Given the description of an element on the screen output the (x, y) to click on. 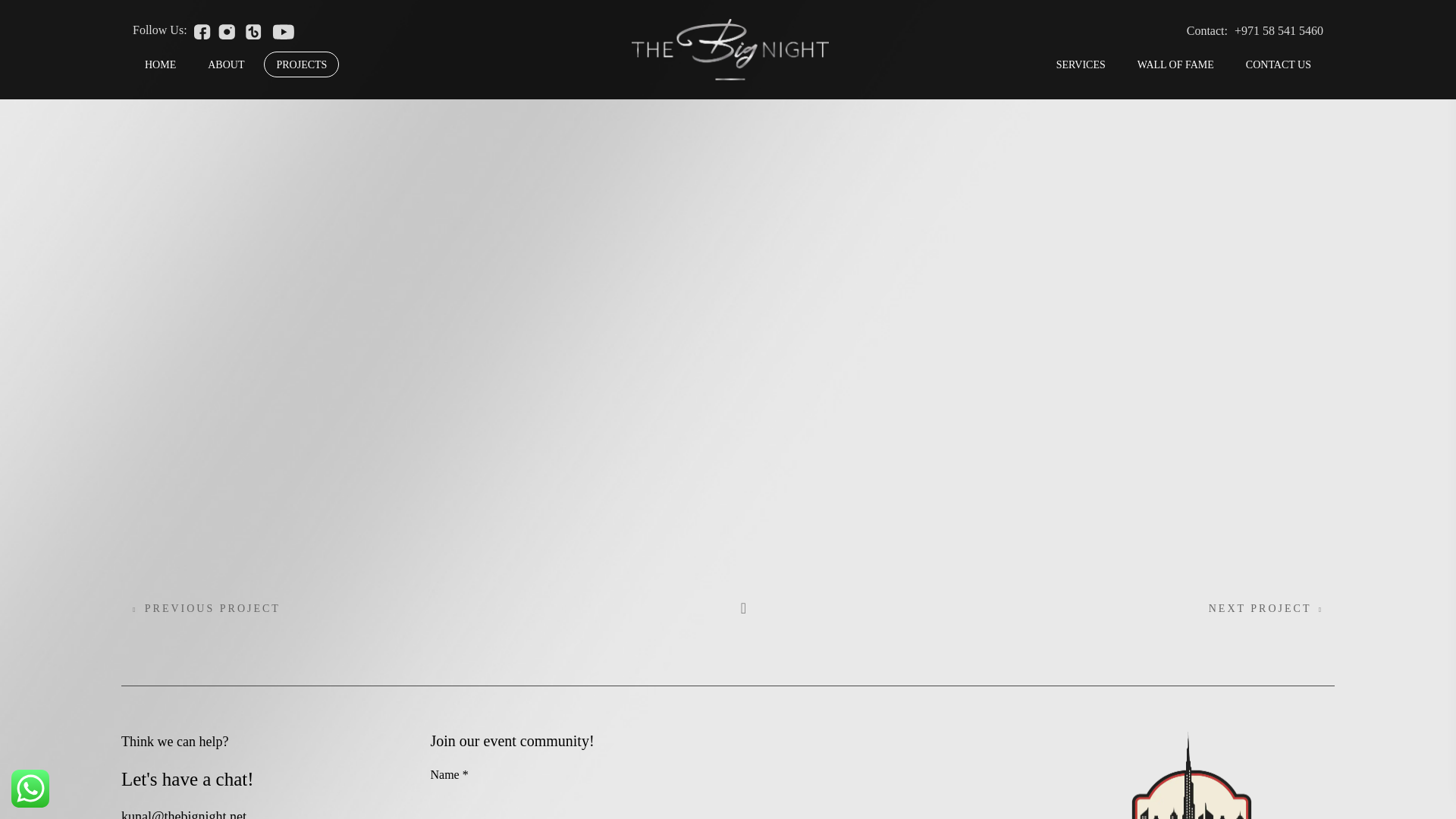
PREVIOUS PROJECT (206, 608)
NEXT PROJECT (1265, 608)
